Given the description of an element on the screen output the (x, y) to click on. 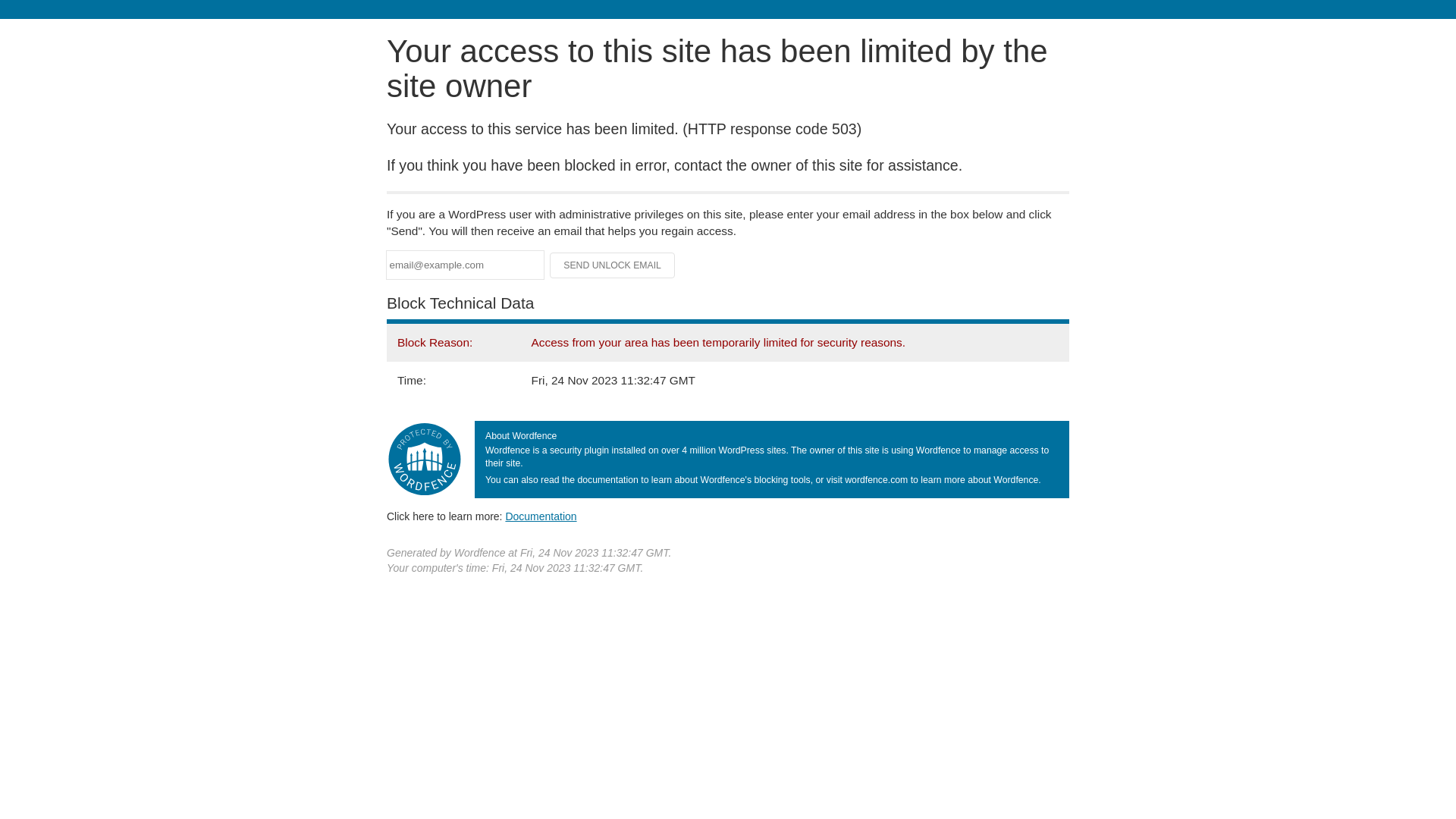
Send Unlock Email Element type: text (612, 265)
Documentation Element type: text (540, 516)
